Given the description of an element on the screen output the (x, y) to click on. 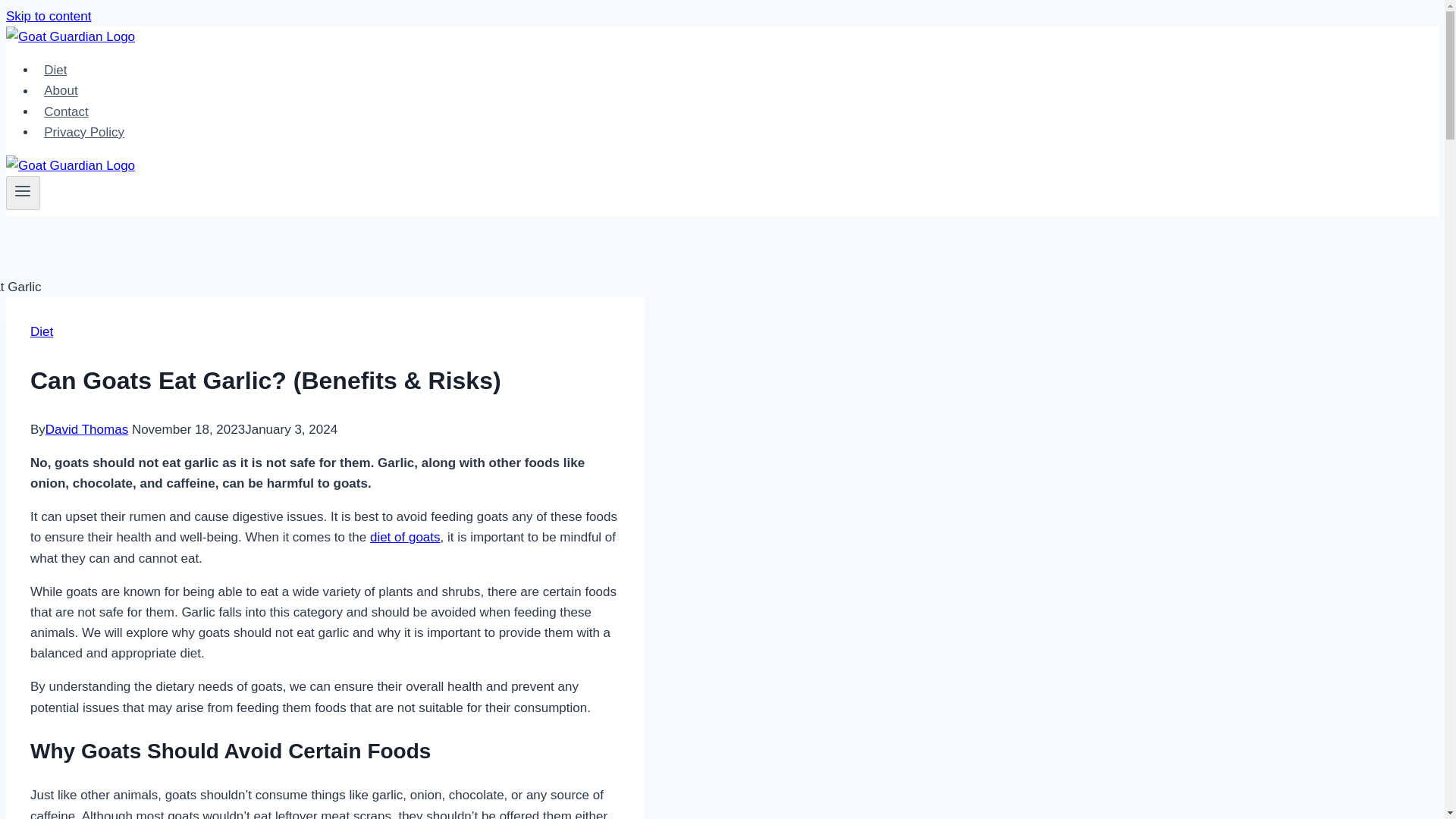
Diet (41, 331)
Contact (66, 111)
About (60, 90)
Skip to content (47, 16)
Diet (55, 70)
Privacy Policy (84, 132)
Skip to content (47, 16)
David Thomas (86, 429)
Toggle Menu (22, 192)
Toggle Menu (22, 190)
